Given the description of an element on the screen output the (x, y) to click on. 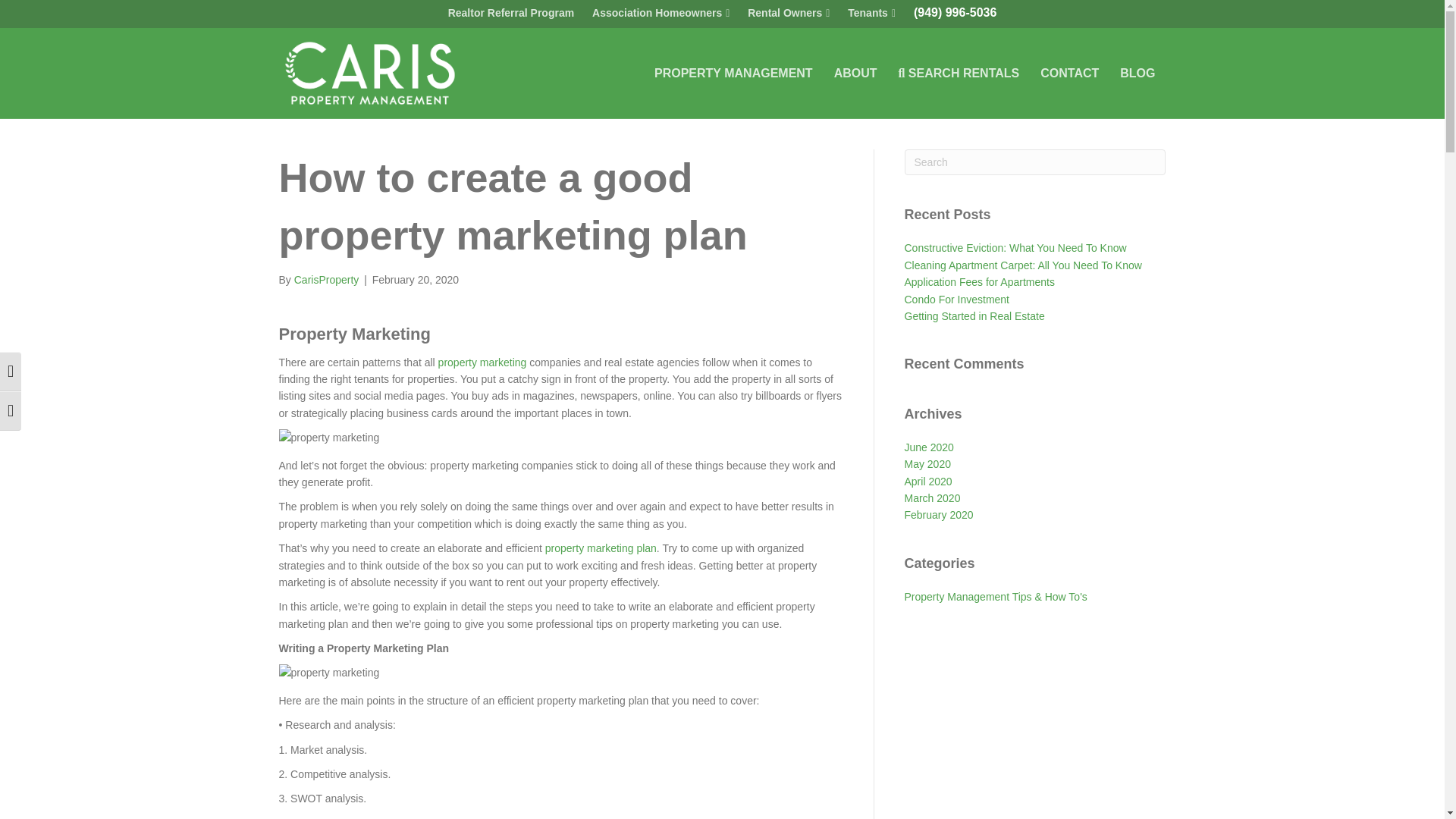
Type and press Enter to search. (1035, 162)
SEARCH RENTALS (959, 73)
BLOG (1137, 73)
Rental Owners (788, 13)
Tenants (871, 13)
CONTACT (1069, 73)
PROPERTY MANAGEMENT (733, 73)
Association Homeowners (660, 13)
Realtor Referral Program (511, 13)
property marketing plan (600, 548)
